Given the description of an element on the screen output the (x, y) to click on. 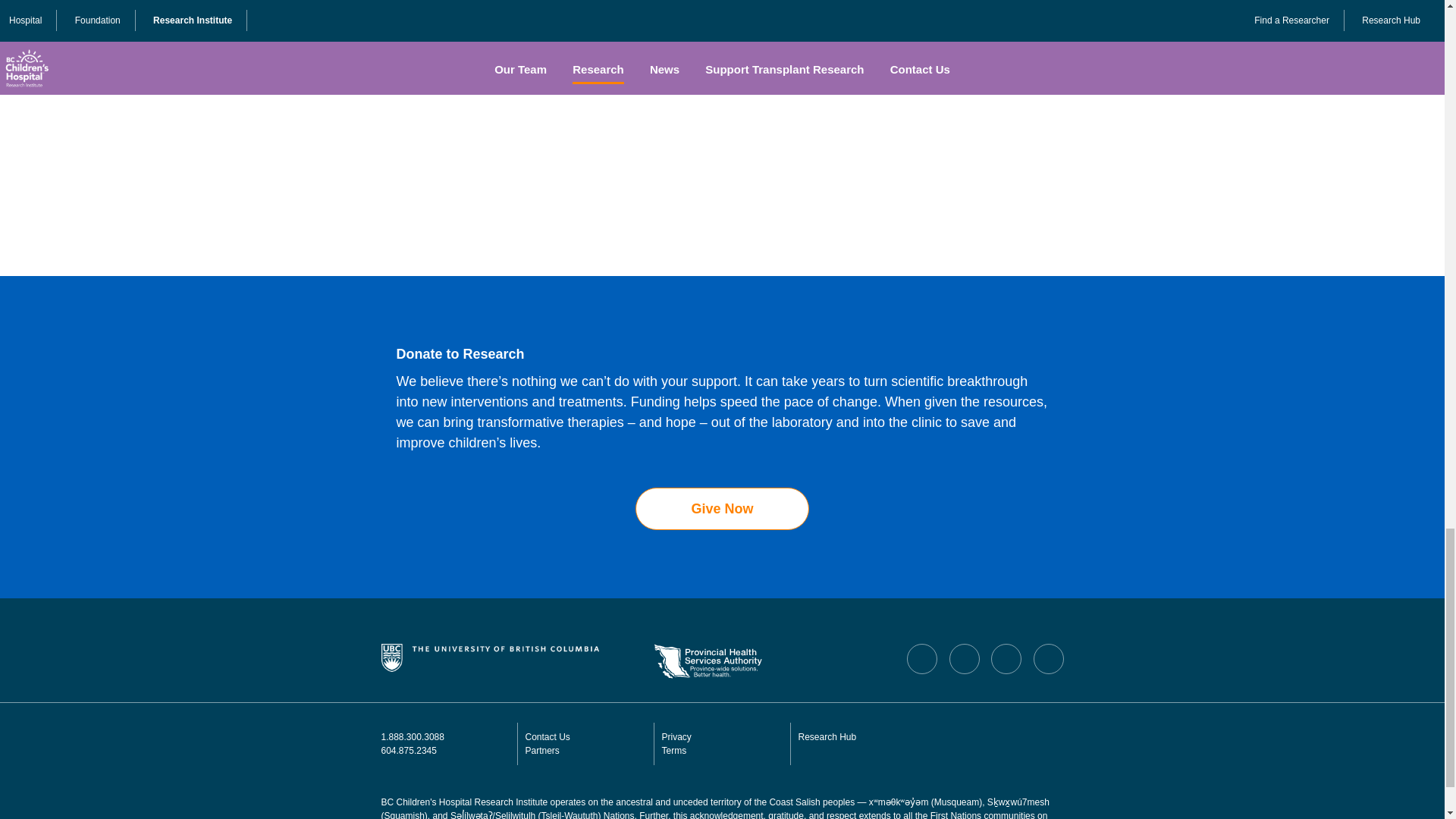
Give Now (721, 508)
